Given the description of an element on the screen output the (x, y) to click on. 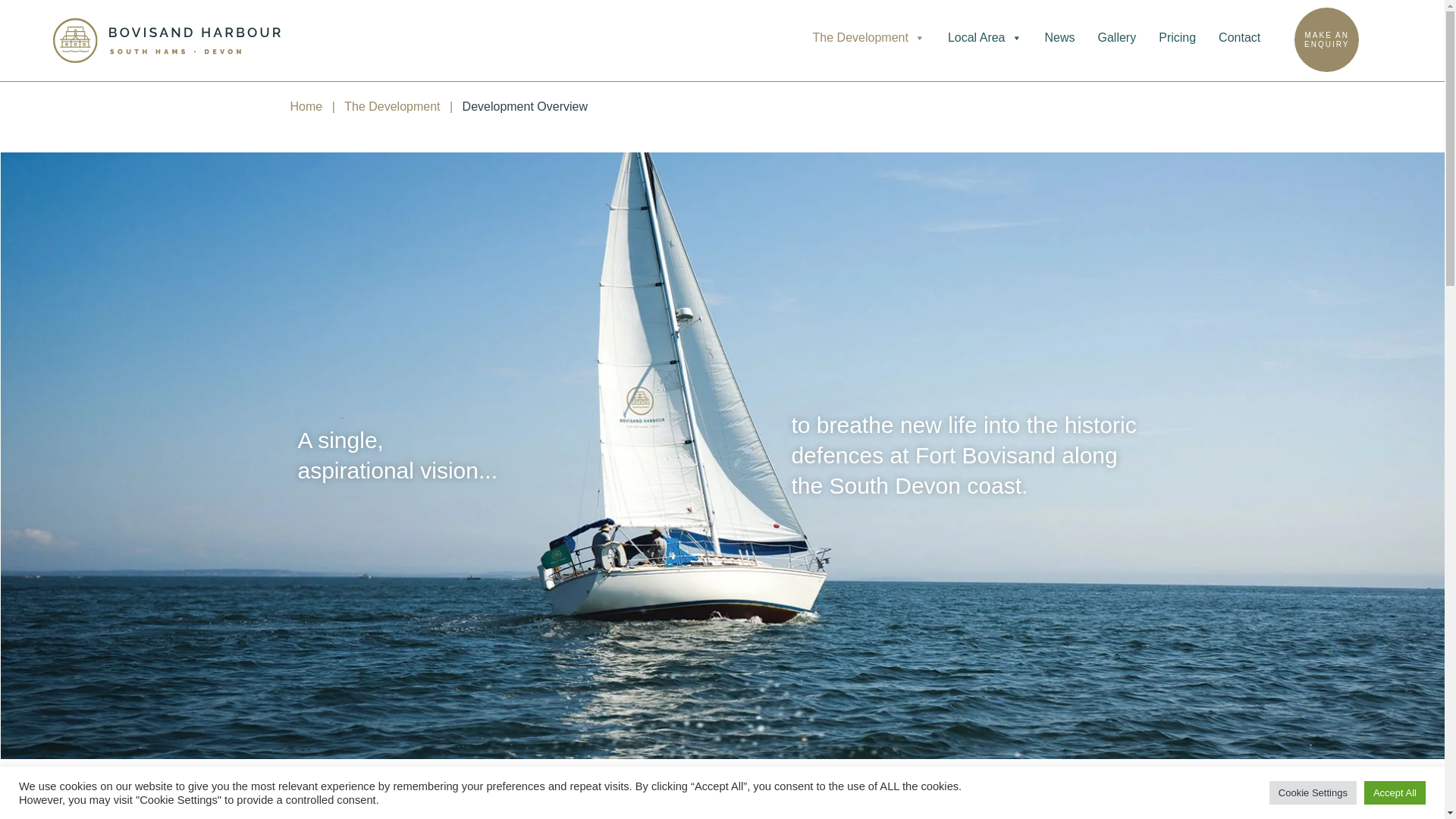
Local Area (1326, 39)
The Development (984, 37)
